Given the description of an element on the screen output the (x, y) to click on. 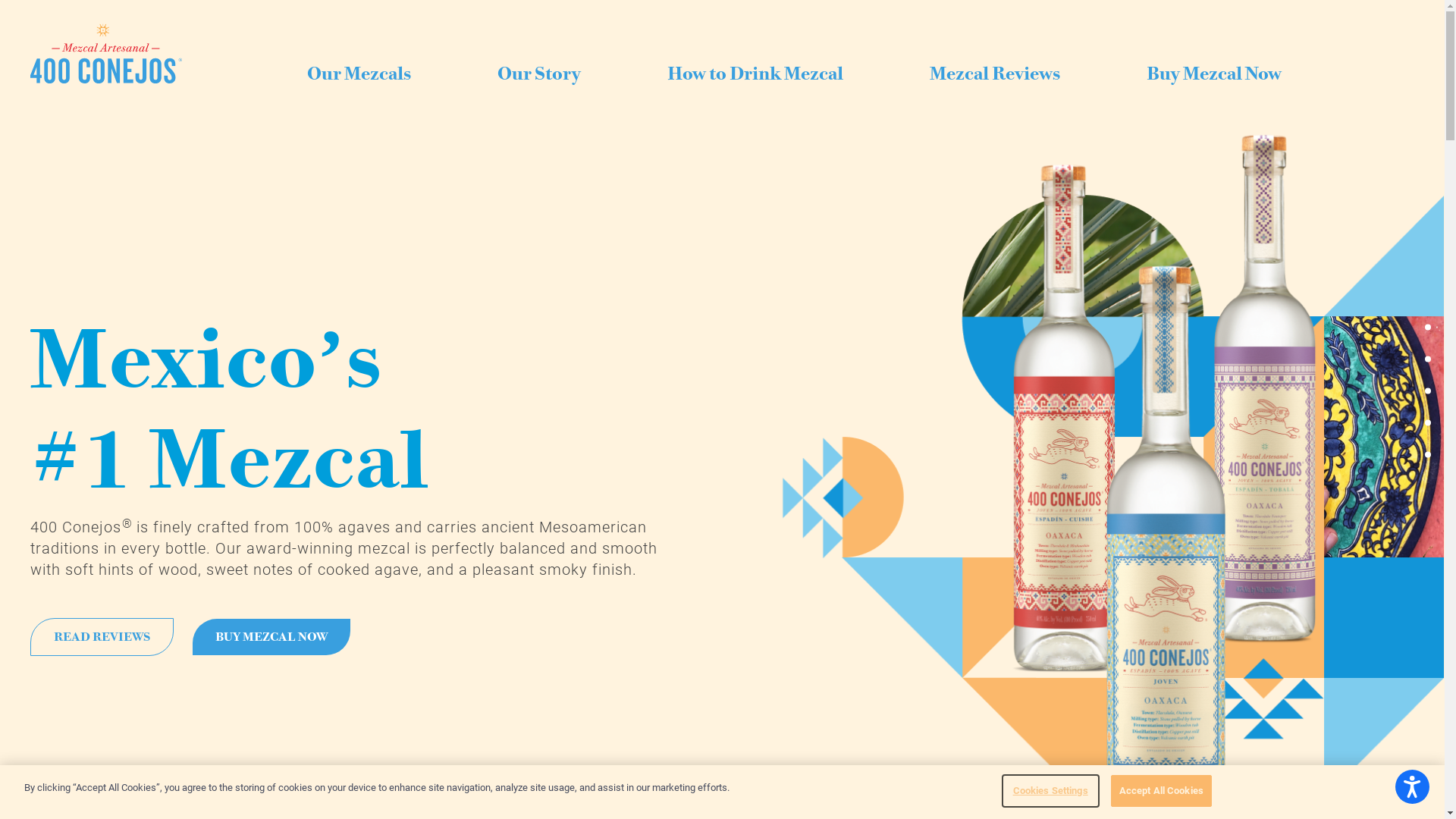
READ REVIEWS Element type: text (101, 636)
Accept All Cookies Element type: text (1160, 790)
link5 Element type: text (1427, 423)
Our Mezcals Element type: text (359, 75)
Our Story Element type: text (538, 75)
BUY MEZCAL NOW Element type: text (271, 636)
link4 Element type: text (1427, 391)
link3 Element type: text (1427, 359)
Buy Mezcal Now Element type: text (1213, 75)
Mezcal Reviews Element type: text (994, 75)
Cookies Settings Element type: text (1050, 790)
How to Drink Mezcal Element type: text (755, 75)
link2 Element type: text (1427, 454)
link1 Element type: text (1427, 327)
